Given the description of an element on the screen output the (x, y) to click on. 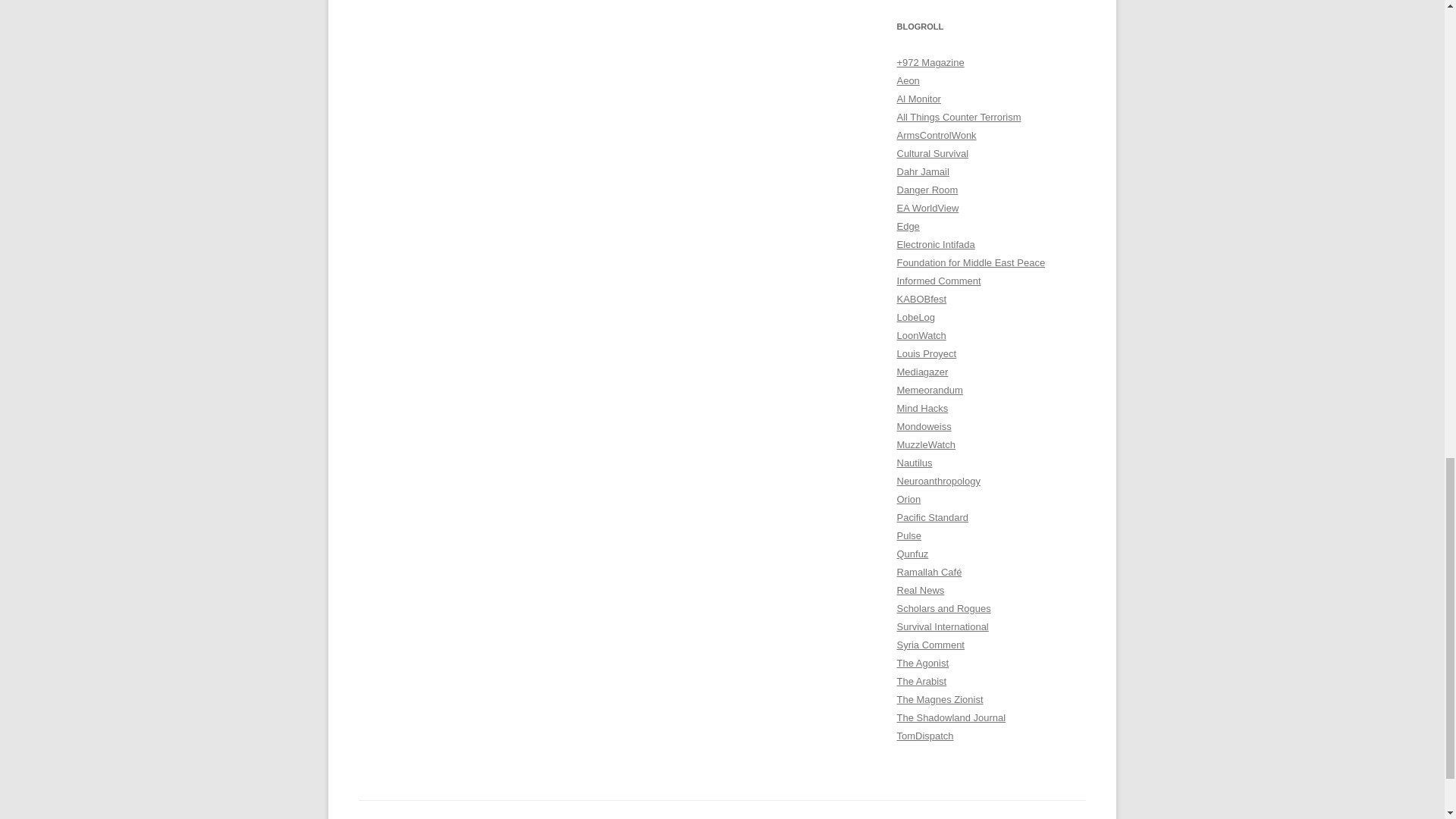
Dahr Jamail (922, 171)
Jim Lobe and friends on foreign policy (915, 317)
The Real News Network (919, 590)
Cultural Survival (932, 153)
EA WorldView (927, 207)
All Things Counter Terrorism (958, 116)
Aeon (907, 80)
Danger Room (927, 189)
Al Monitor (918, 98)
ArmsControlWonk (935, 134)
